Given the description of an element on the screen output the (x, y) to click on. 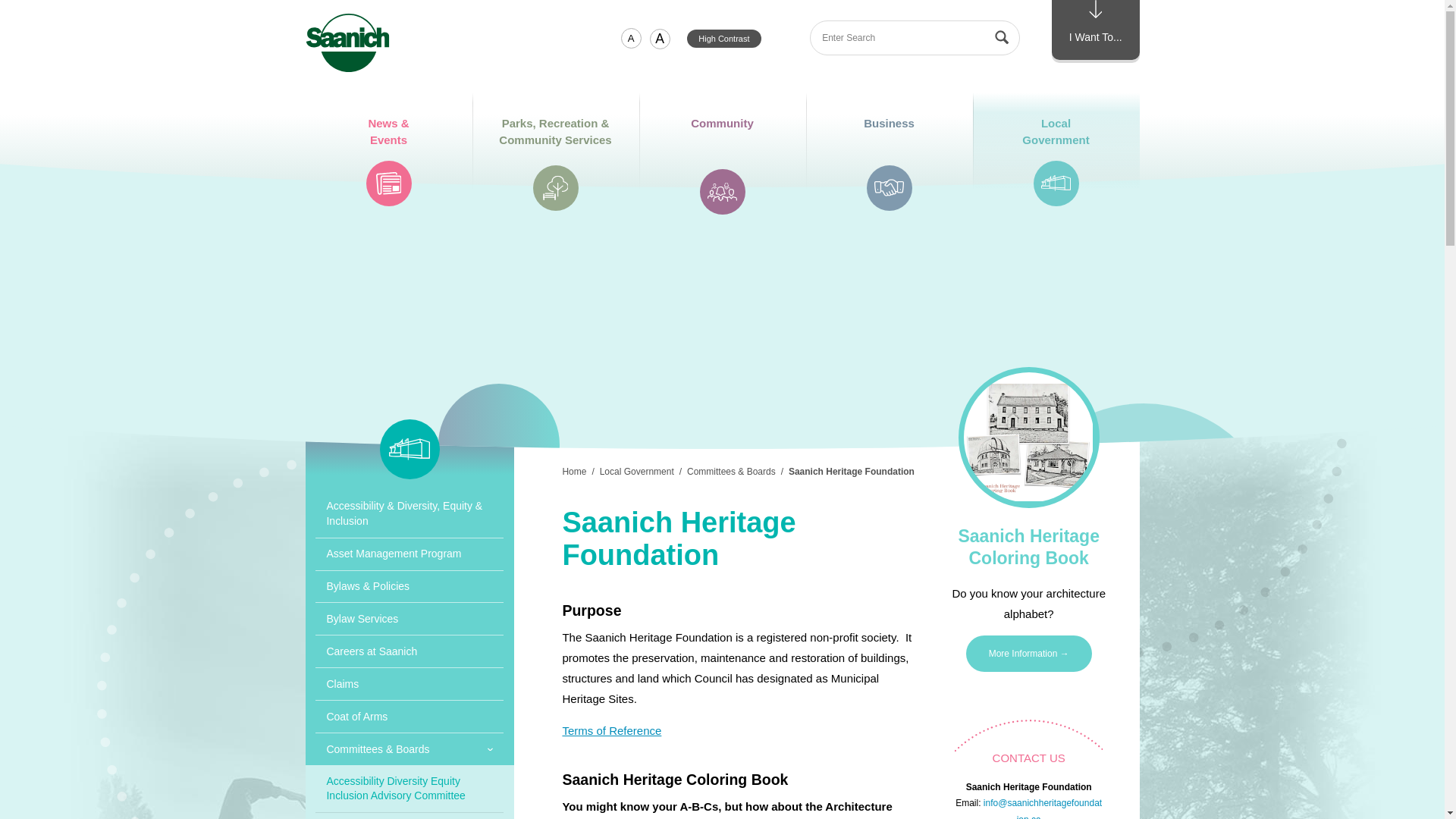
District of Saanich (1095, 29)
Community (347, 42)
Search (722, 143)
Home (631, 37)
